Given the description of an element on the screen output the (x, y) to click on. 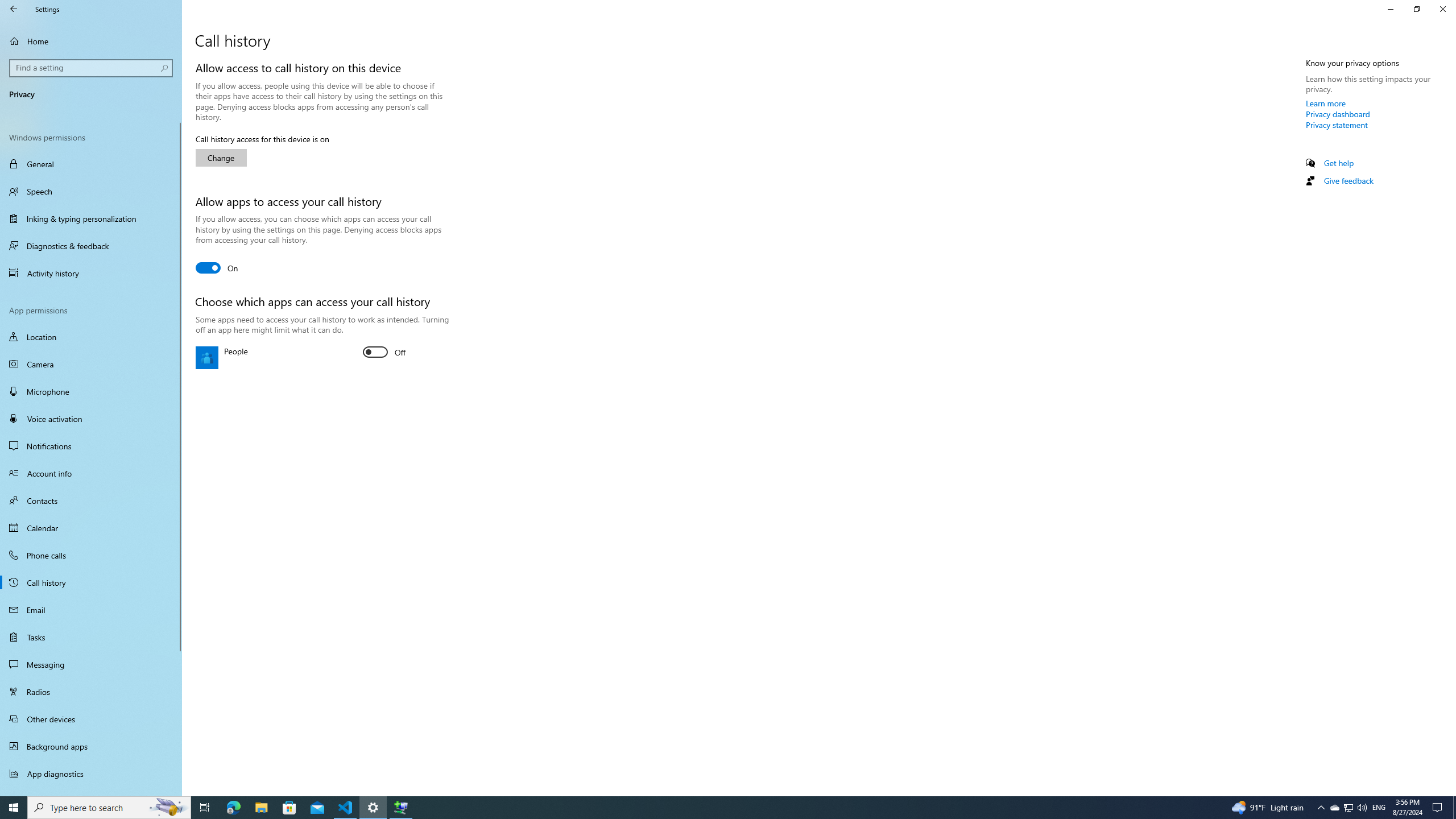
Calendar (91, 527)
Background apps (91, 746)
Speech (91, 190)
Radios (91, 691)
Extensible Wizards Host Process - 1 running window (400, 807)
Tasks (91, 636)
Other devices (91, 718)
General (91, 163)
Notifications (91, 445)
